Given the description of an element on the screen output the (x, y) to click on. 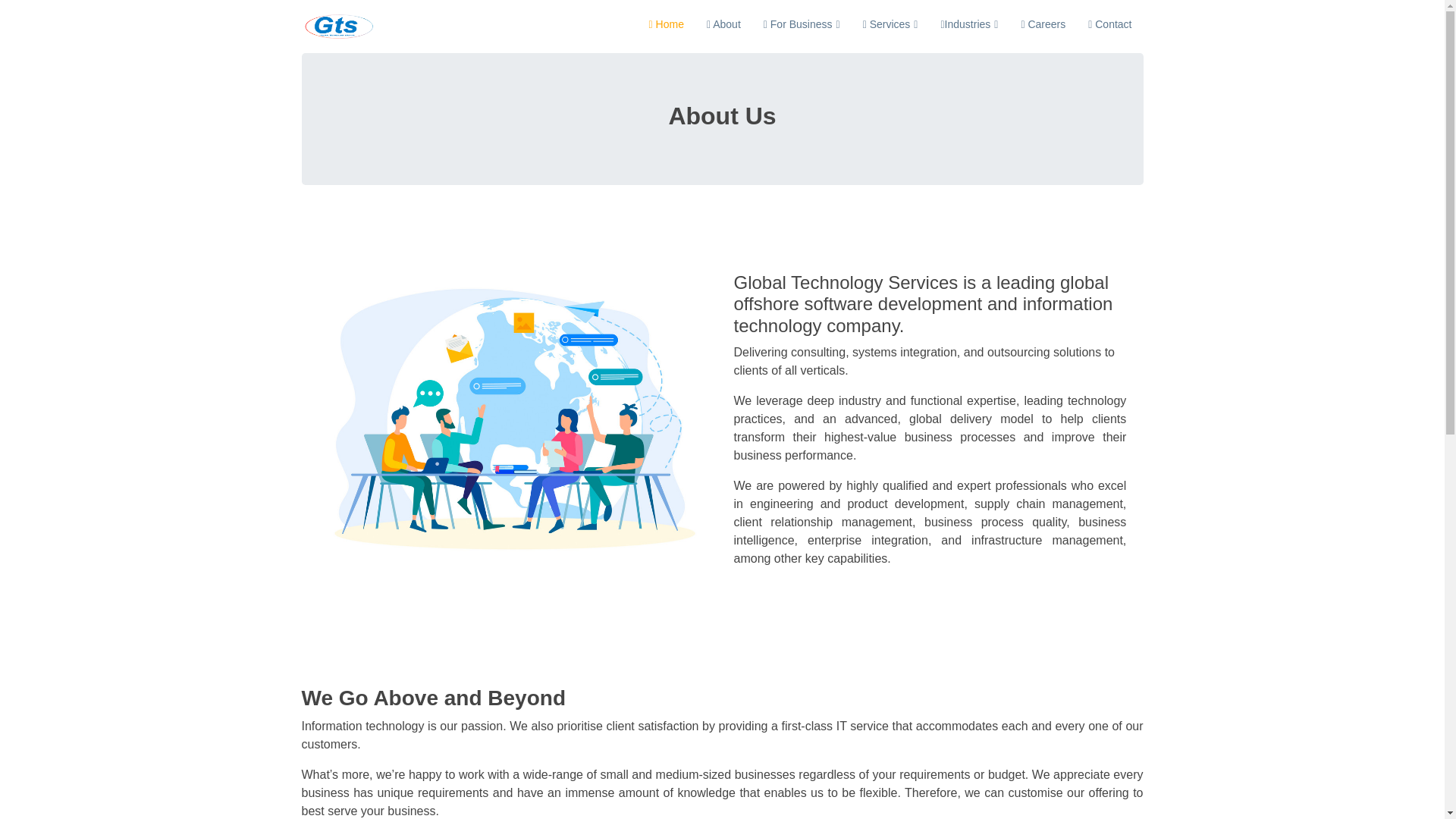
For Business (801, 24)
Home (666, 24)
Industries (968, 24)
Contact (1109, 24)
Home (666, 24)
Services (890, 24)
Contact (1109, 24)
Careers (1043, 24)
About (723, 24)
Careers (1043, 24)
About (723, 24)
